Given the description of an element on the screen output the (x, y) to click on. 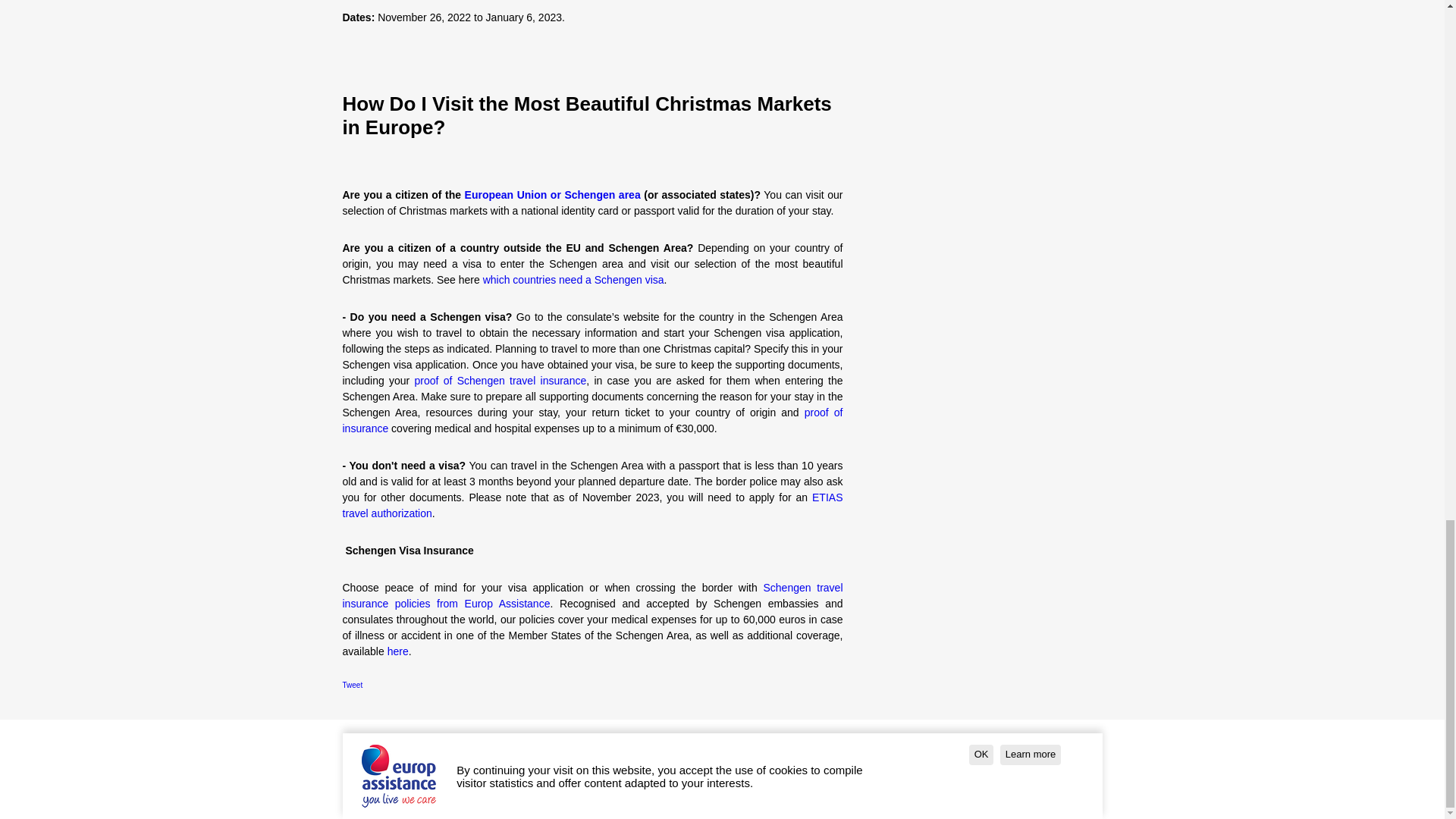
Schengen travel insurance policies from Europ Assistance (592, 595)
which countries need a Schengen visa (573, 279)
proof of Schengen travel insurance (500, 380)
Tweet (354, 684)
European Union or Schengen area (550, 194)
proof of insurance (592, 420)
here (398, 651)
ETIAS travel authorization (592, 505)
